Given the description of an element on the screen output the (x, y) to click on. 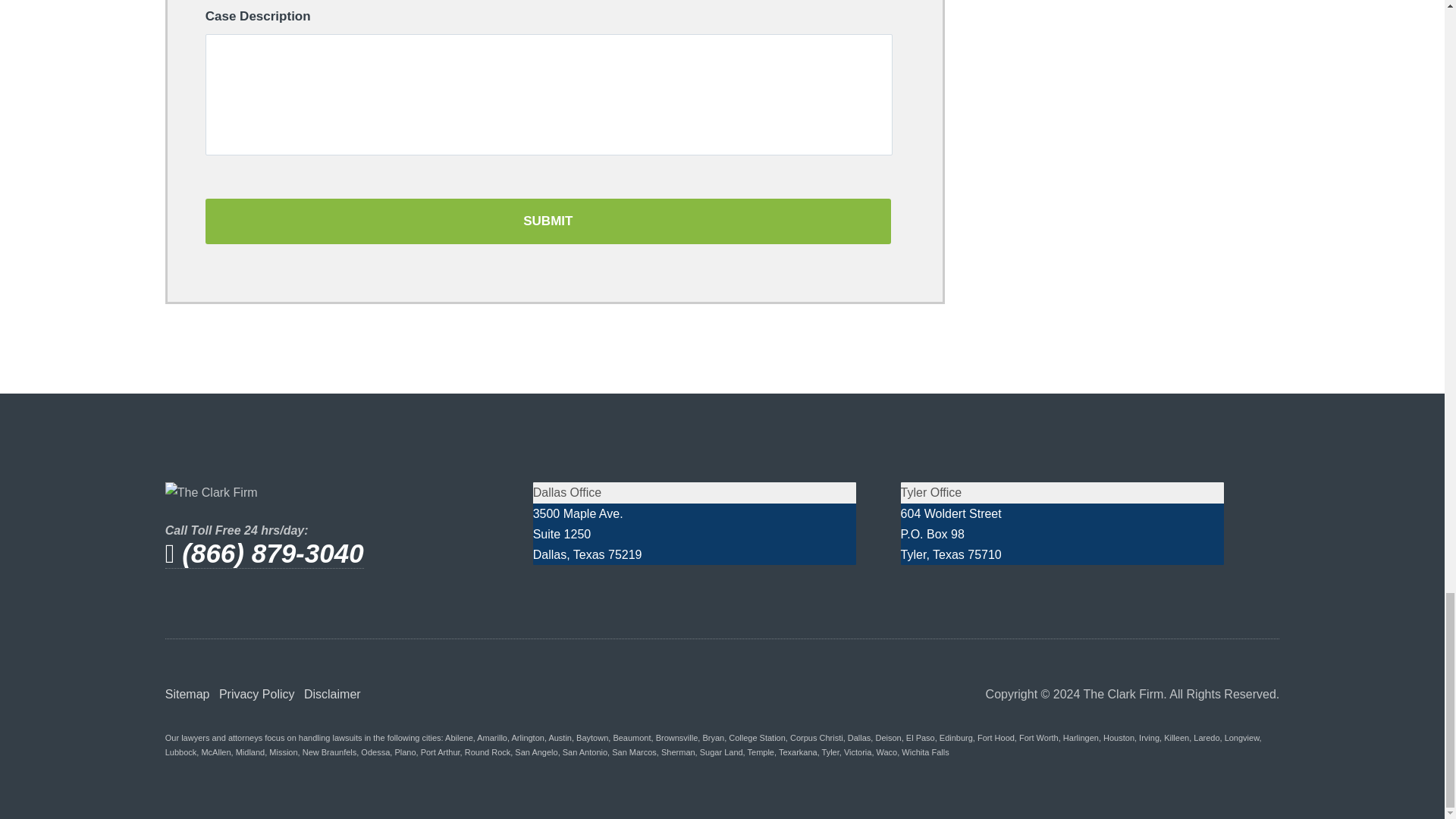
Submit (548, 221)
